Given the description of an element on the screen output the (x, y) to click on. 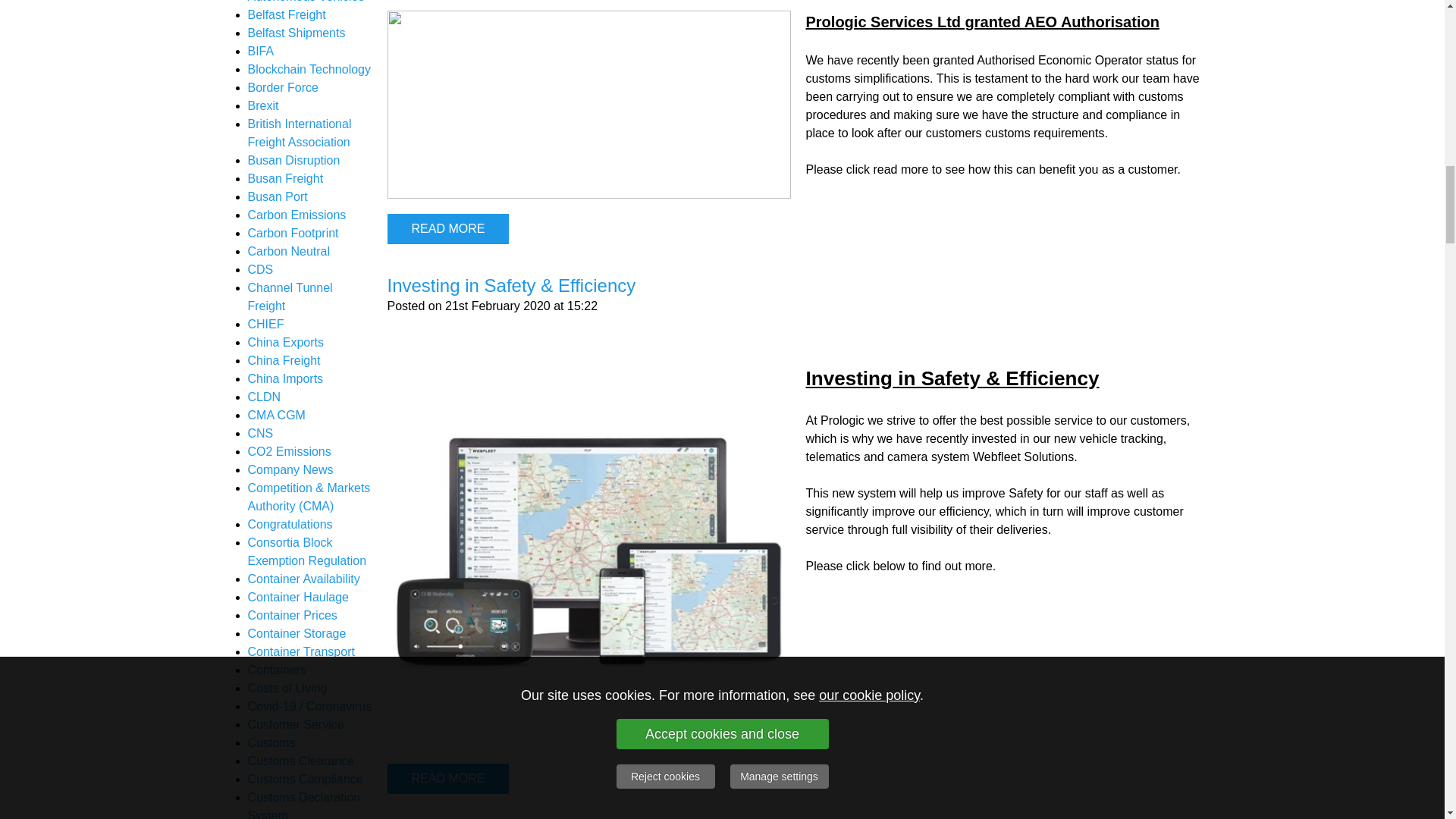
READ MORE (447, 778)
READ MORE (447, 228)
